Given the description of an element on the screen output the (x, y) to click on. 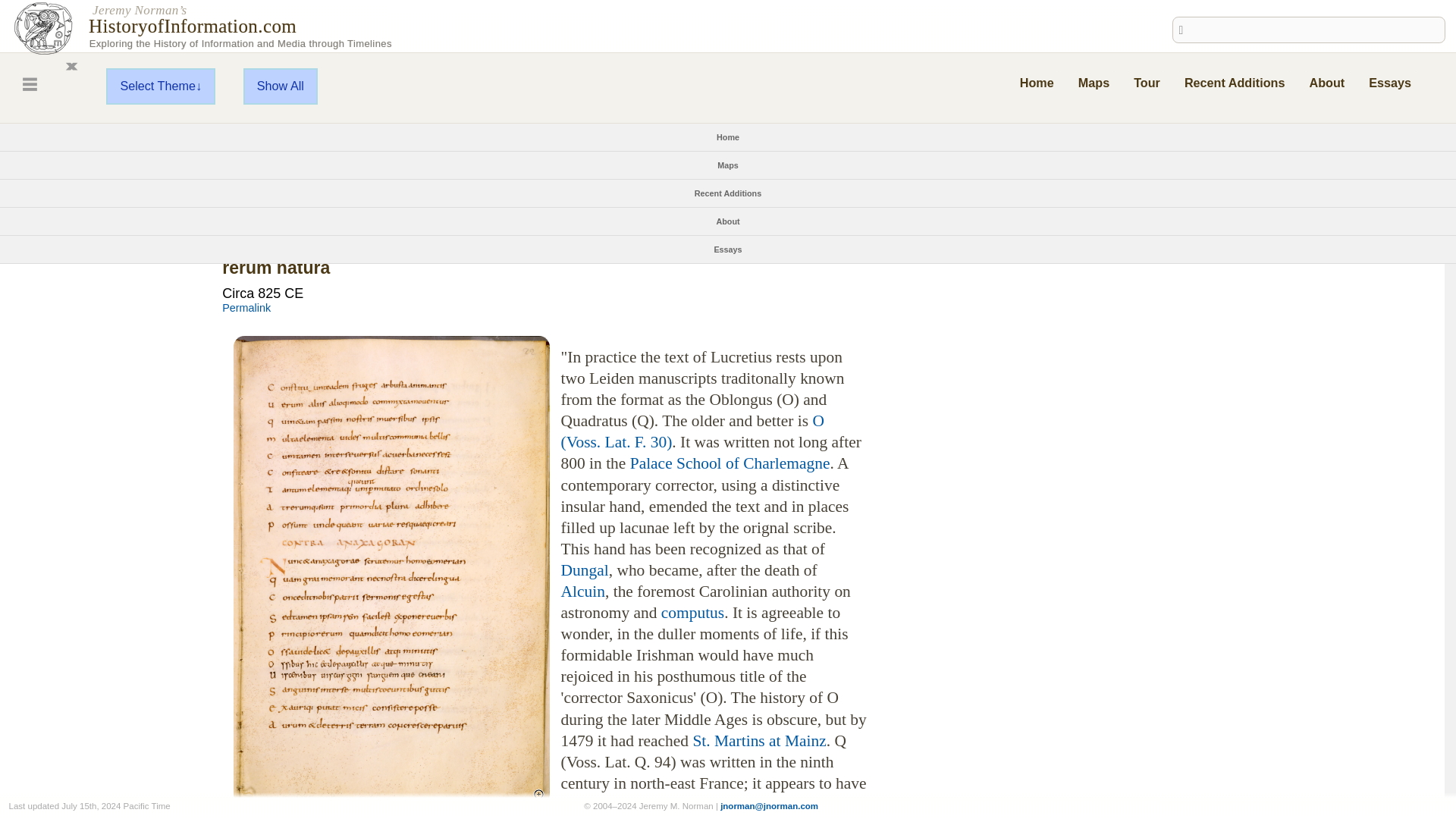
Alcuin (582, 591)
Home (1037, 82)
Home (727, 136)
Permalink (246, 307)
Saint-Bertin (689, 807)
Maps (1093, 82)
Palace School of Charlemagne (729, 463)
Show All (280, 85)
Image Source: www.mmdc.nl (507, 816)
computus (692, 612)
